Given the description of an element on the screen output the (x, y) to click on. 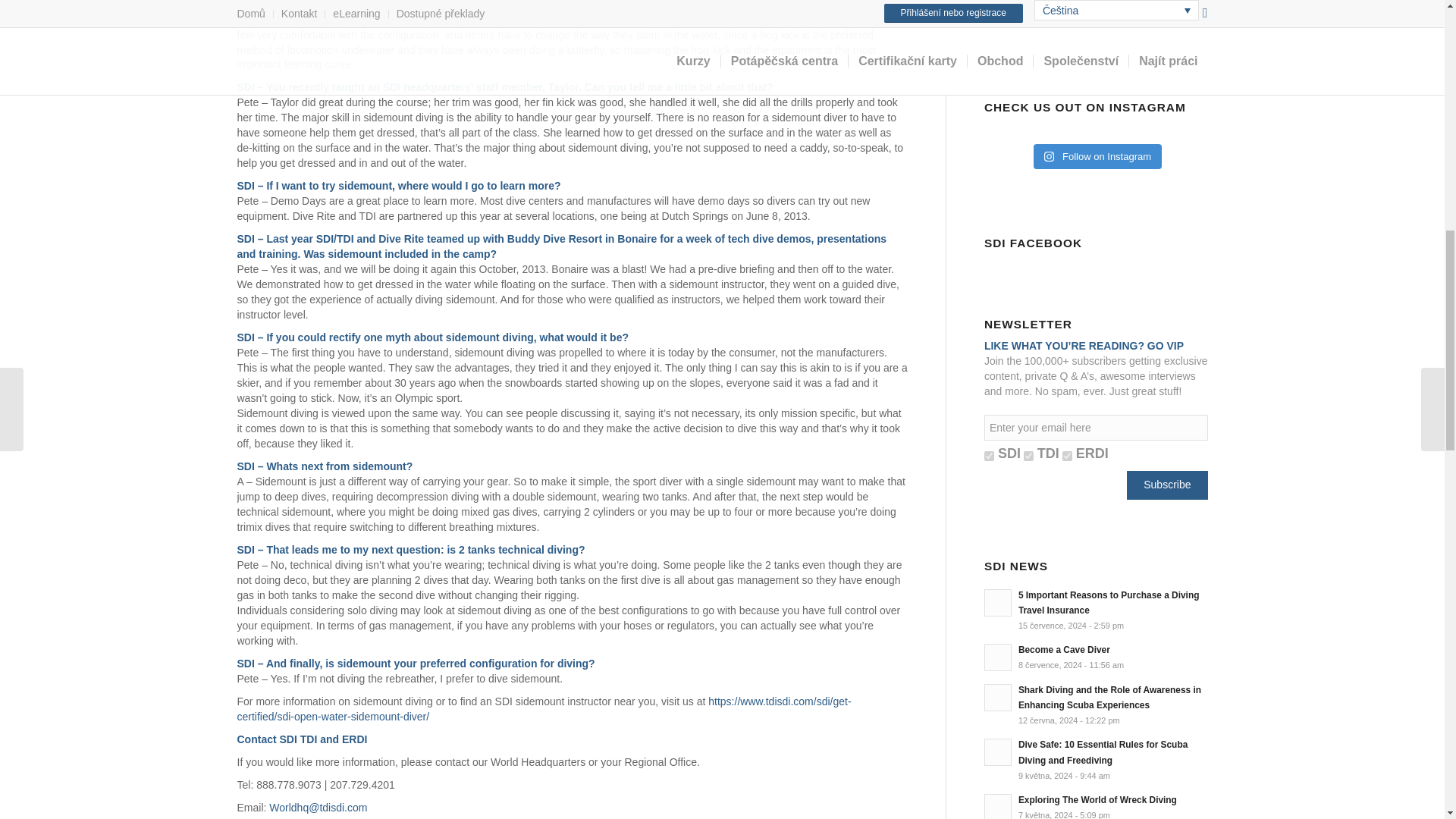
Subscribe (1166, 484)
ON (1066, 456)
ON (989, 456)
ON (1028, 456)
